Given the description of an element on the screen output the (x, y) to click on. 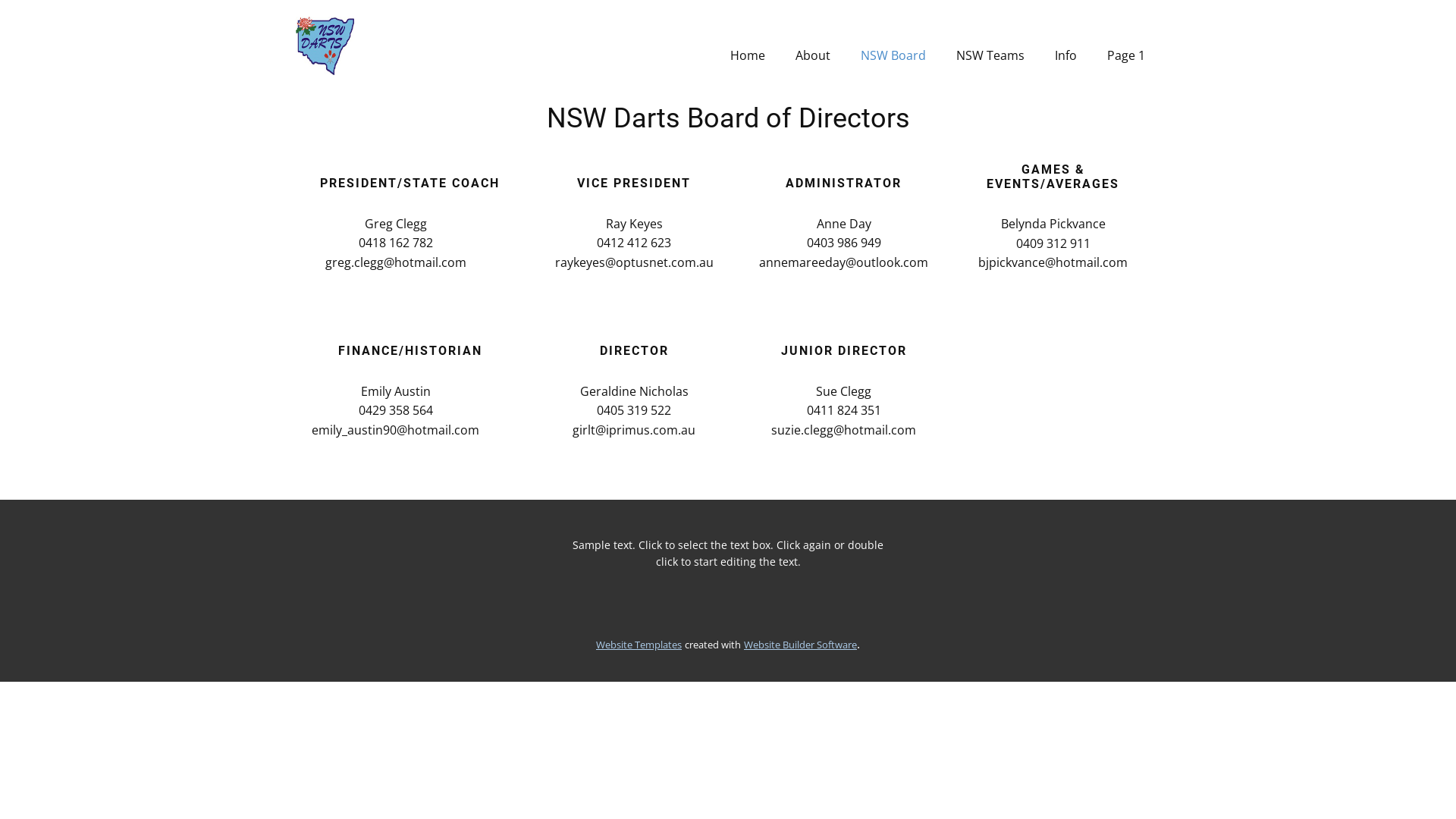
About Element type: text (812, 55)
Info Element type: text (1065, 55)
Home Element type: text (747, 55)
Page 1 Element type: text (1126, 55)
Website Templates Element type: text (638, 644)
NSW Teams Element type: text (990, 55)
Website Builder Software Element type: text (799, 644)
NSW Board Element type: text (893, 55)
